Given the description of an element on the screen output the (x, y) to click on. 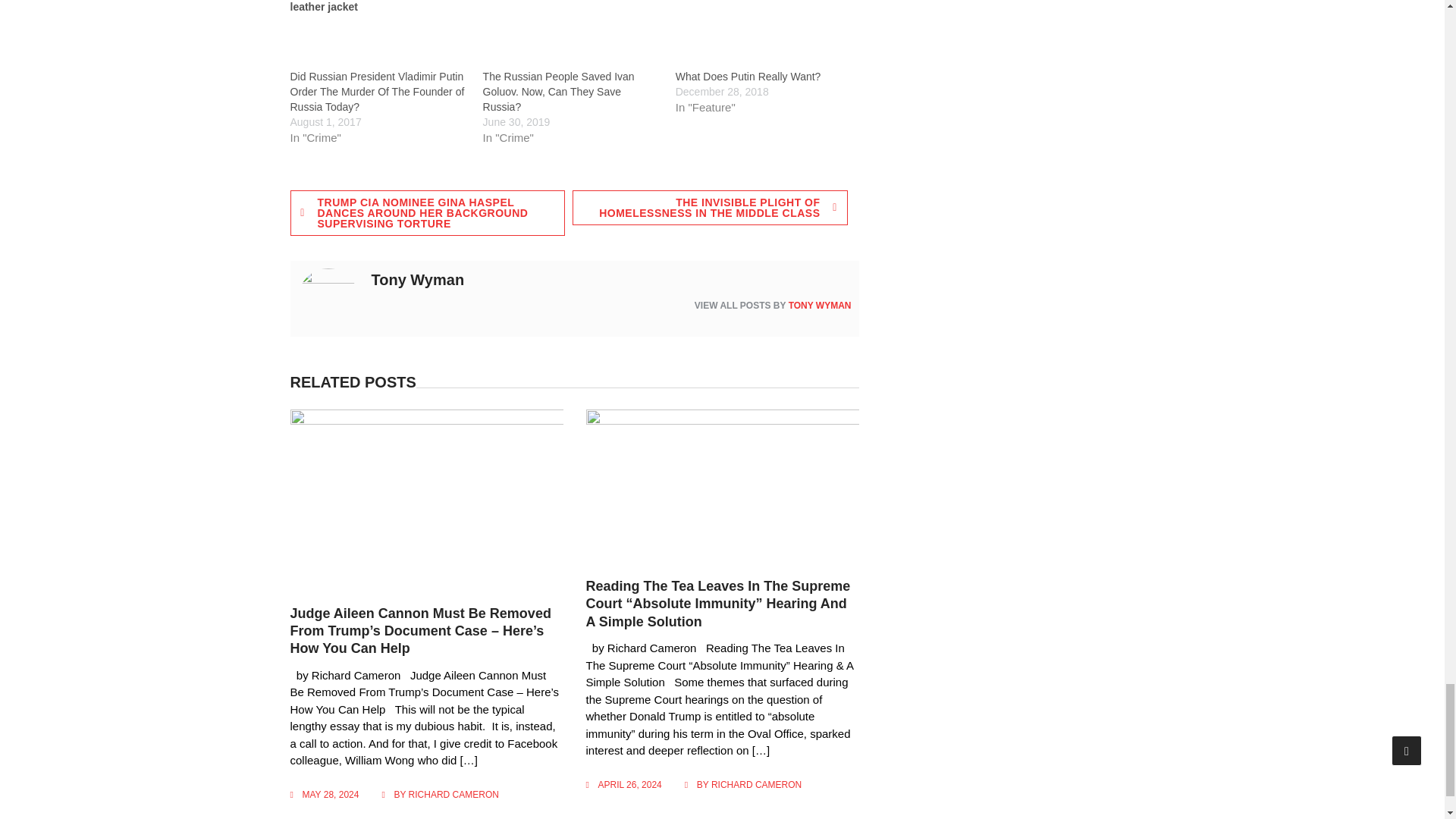
What Does Putin Really Want? (748, 76)
What Does Putin Really Want? (764, 34)
TONY WYMAN (820, 305)
What Does Putin Really Want? (748, 76)
THE INVISIBLE PLIGHT OF HOMELESSNESS IN THE MIDDLE CLASS (709, 207)
